Given the description of an element on the screen output the (x, y) to click on. 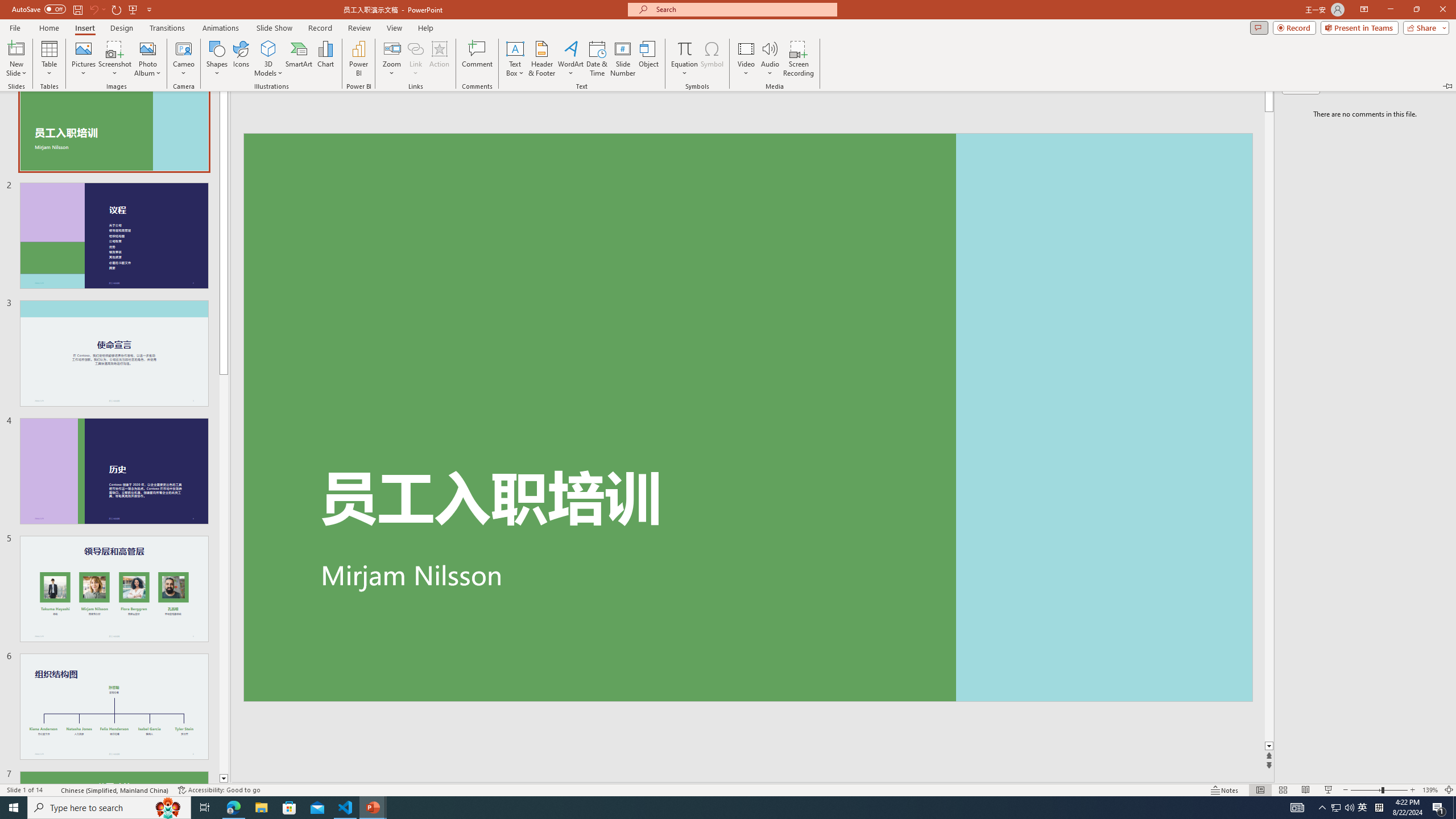
Show desktop (1454, 807)
Microsoft Edge - 1 running window (233, 807)
AutomationID: 4105 (1297, 807)
Action Center, 1 new notification (1439, 807)
User Promoted Notification Area (1342, 807)
Search highlights icon opens search home window (167, 807)
Zoom 139% (1430, 790)
